Given the description of an element on the screen output the (x, y) to click on. 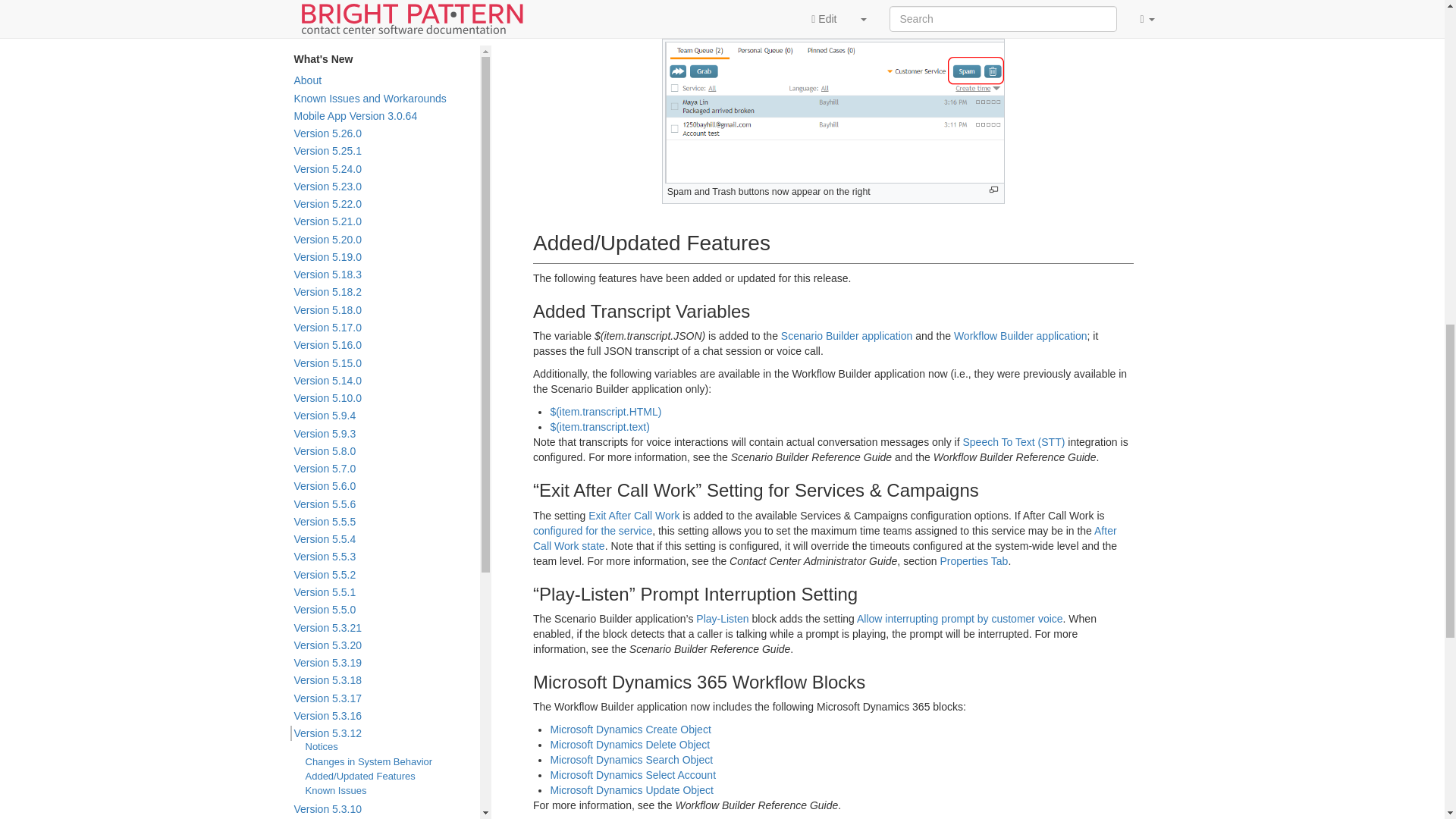
Workflow Builder application (1020, 336)
Microsoft Dynamics Delete Object (630, 744)
After Call Work state (824, 538)
Exit After Call Work (633, 515)
Microsoft Dynamics Update Object (631, 789)
Play-Listen (721, 618)
Properties Tab (973, 561)
Microsoft Dynamics Search Object (631, 759)
Scenario Builder application (846, 336)
Microsoft Dynamics Create Object (630, 729)
Allow interrupting prompt by customer voice (959, 618)
Microsoft Dynamics Select Account (633, 775)
Enlarge (993, 189)
configured for the service (592, 530)
